Given the description of an element on the screen output the (x, y) to click on. 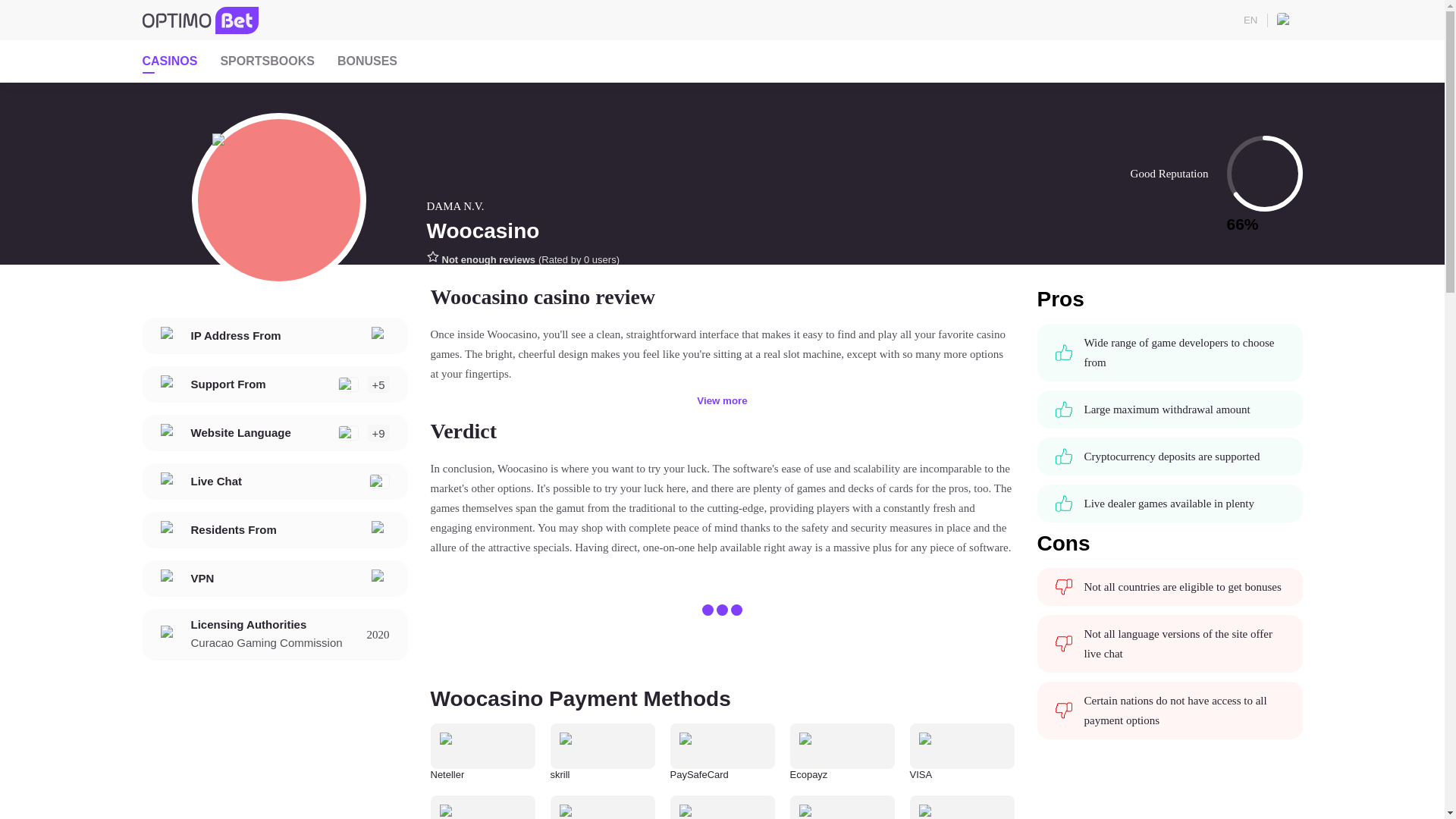
EN (1271, 20)
CASINOS (170, 60)
BONUSES (367, 60)
SPORTSBOOKS (266, 60)
